Given the description of an element on the screen output the (x, y) to click on. 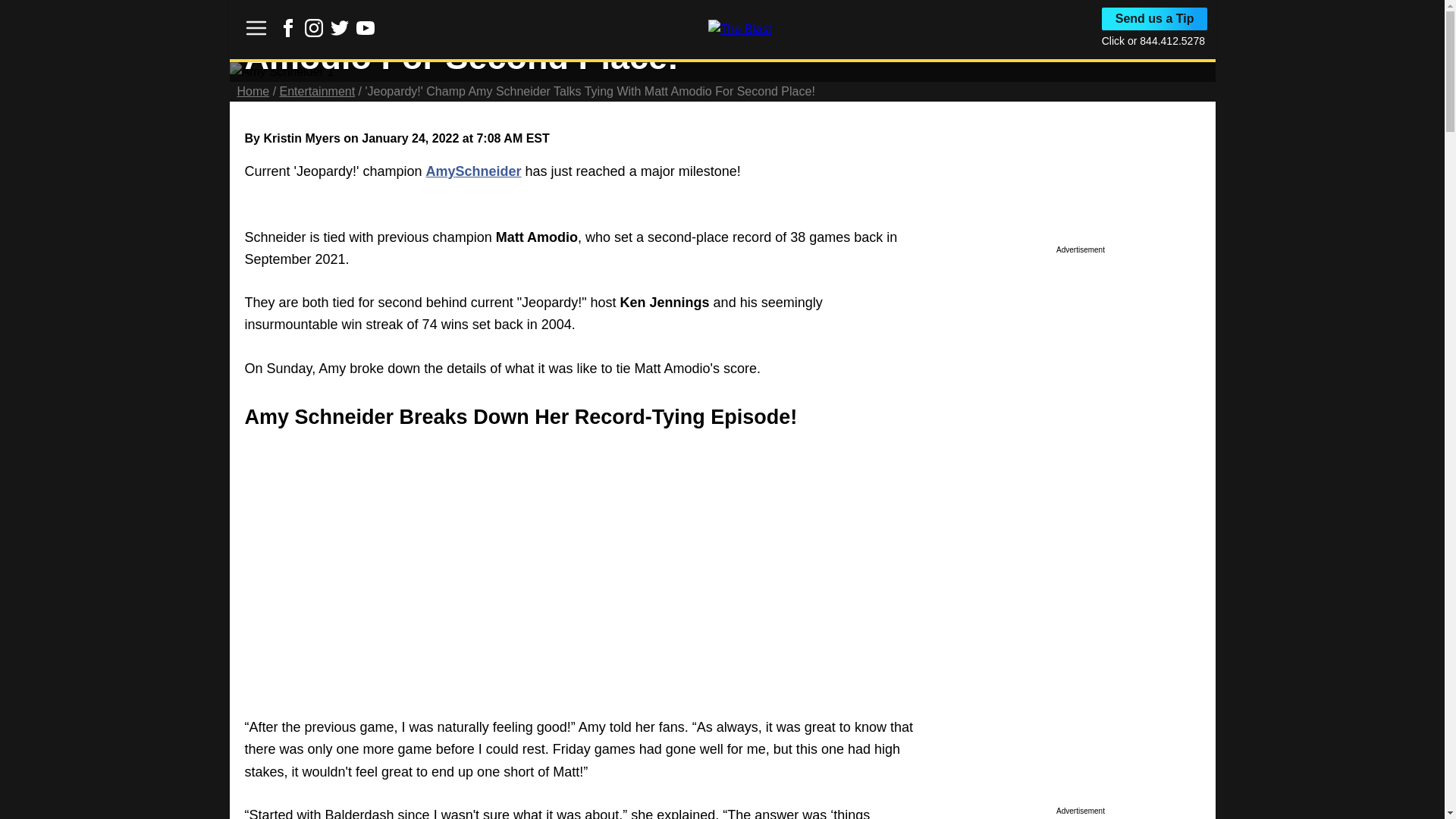
Home (252, 91)
Link to Instagram (313, 27)
Send us a Tip (1155, 18)
Amy (440, 171)
Link to Twitter (339, 31)
Link to Twitter (339, 27)
Kristin Myers (301, 137)
Link to Facebook (288, 27)
Link to Youtube (365, 27)
Link to Instagram (313, 31)
Link to Youtube (365, 31)
Entertainment (317, 91)
Link to Facebook (288, 31)
Schneider (488, 171)
Click or 844.412.5278 (1153, 40)
